Given the description of an element on the screen output the (x, y) to click on. 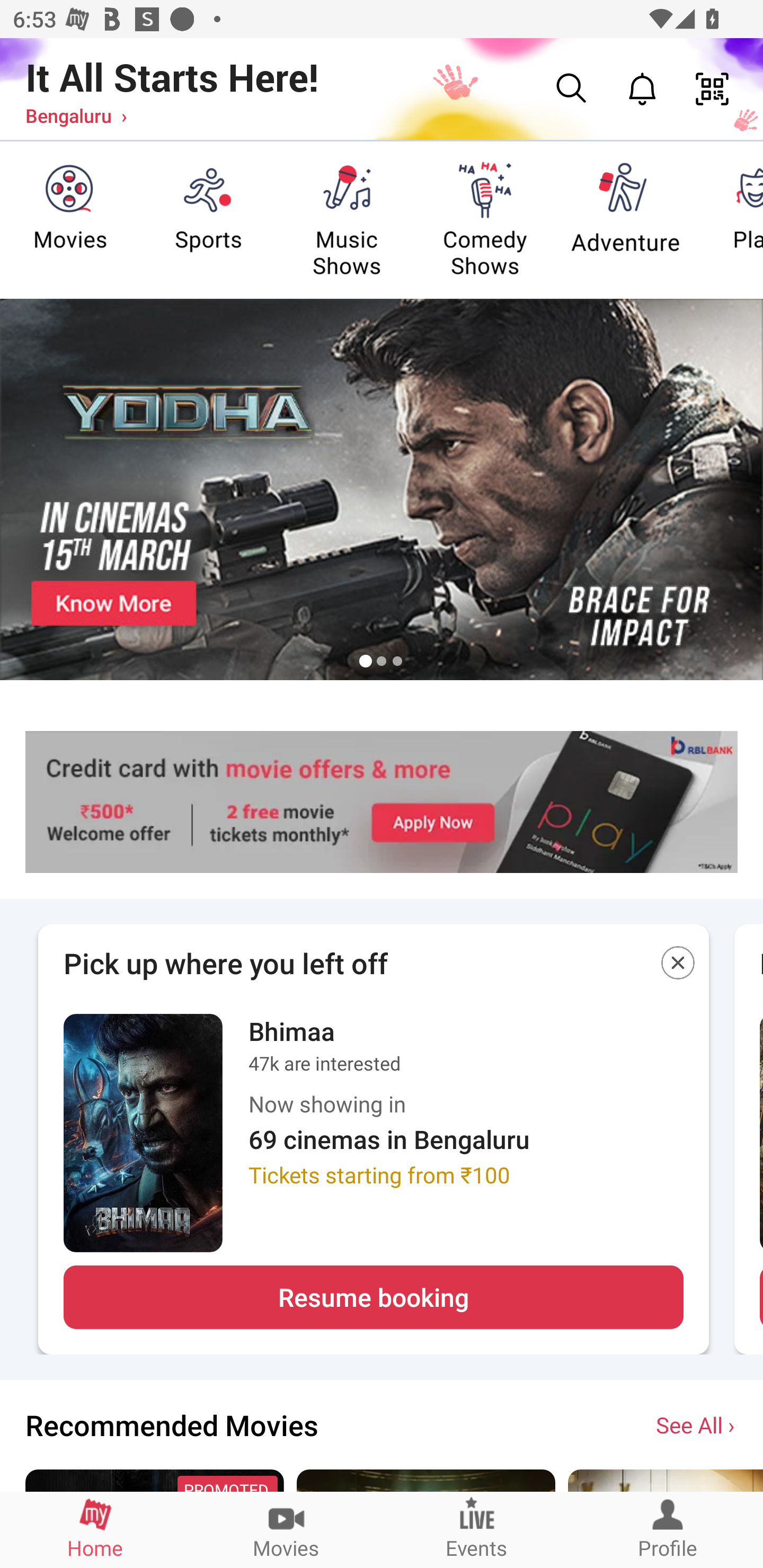
Bengaluru  › (76, 114)
  (678, 966)
Resume booking (373, 1297)
See All › (696, 1424)
Home (95, 1529)
Movies (285, 1529)
Events (476, 1529)
Profile (667, 1529)
